Given the description of an element on the screen output the (x, y) to click on. 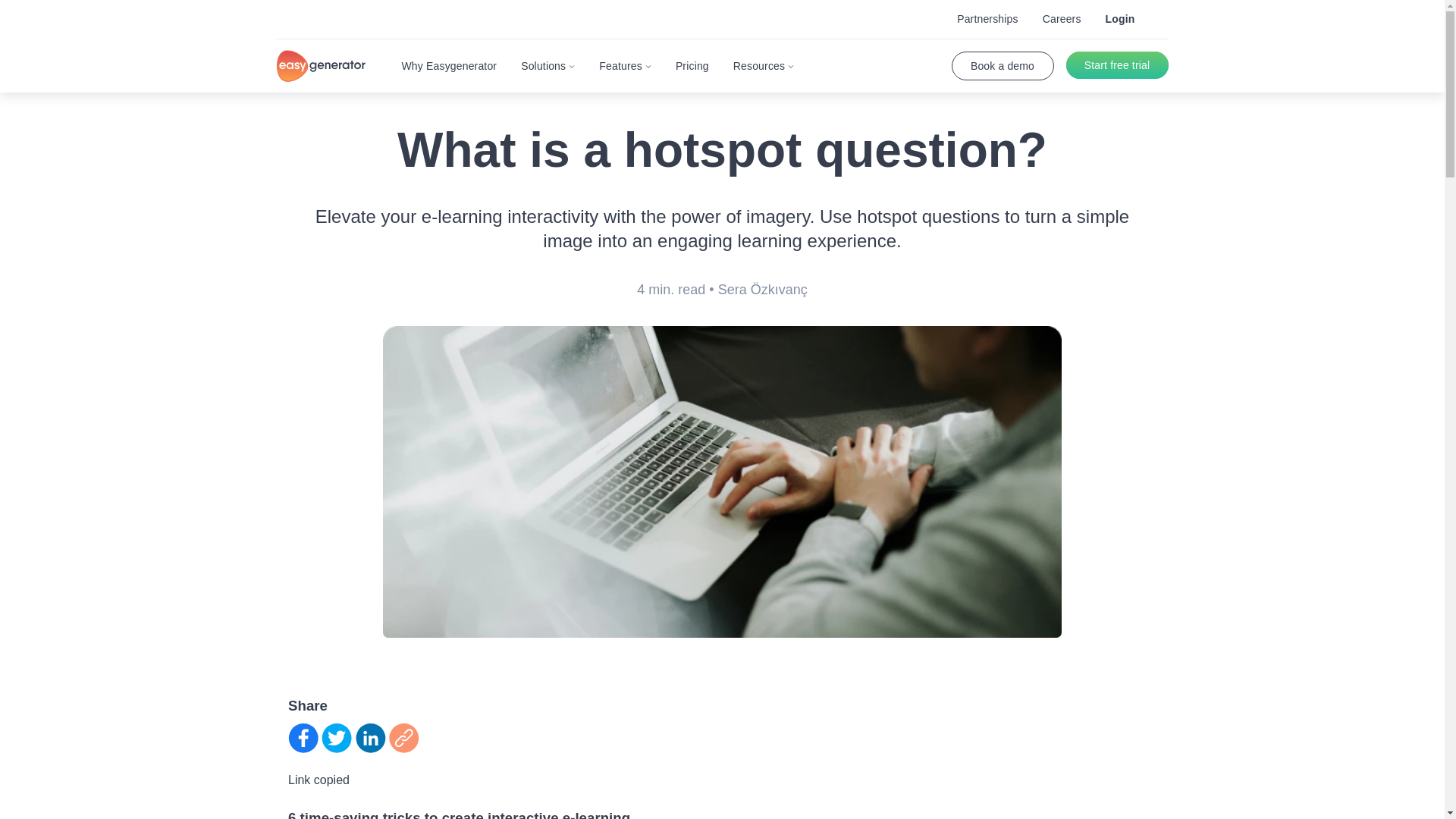
Login (1120, 19)
Careers (1061, 19)
Start free trial (1117, 64)
Book a demo (1001, 65)
Solutions (548, 65)
Pricing (692, 65)
Why Easygenerator (449, 65)
Partnerships (986, 19)
Resources (763, 65)
Features (624, 65)
